Given the description of an element on the screen output the (x, y) to click on. 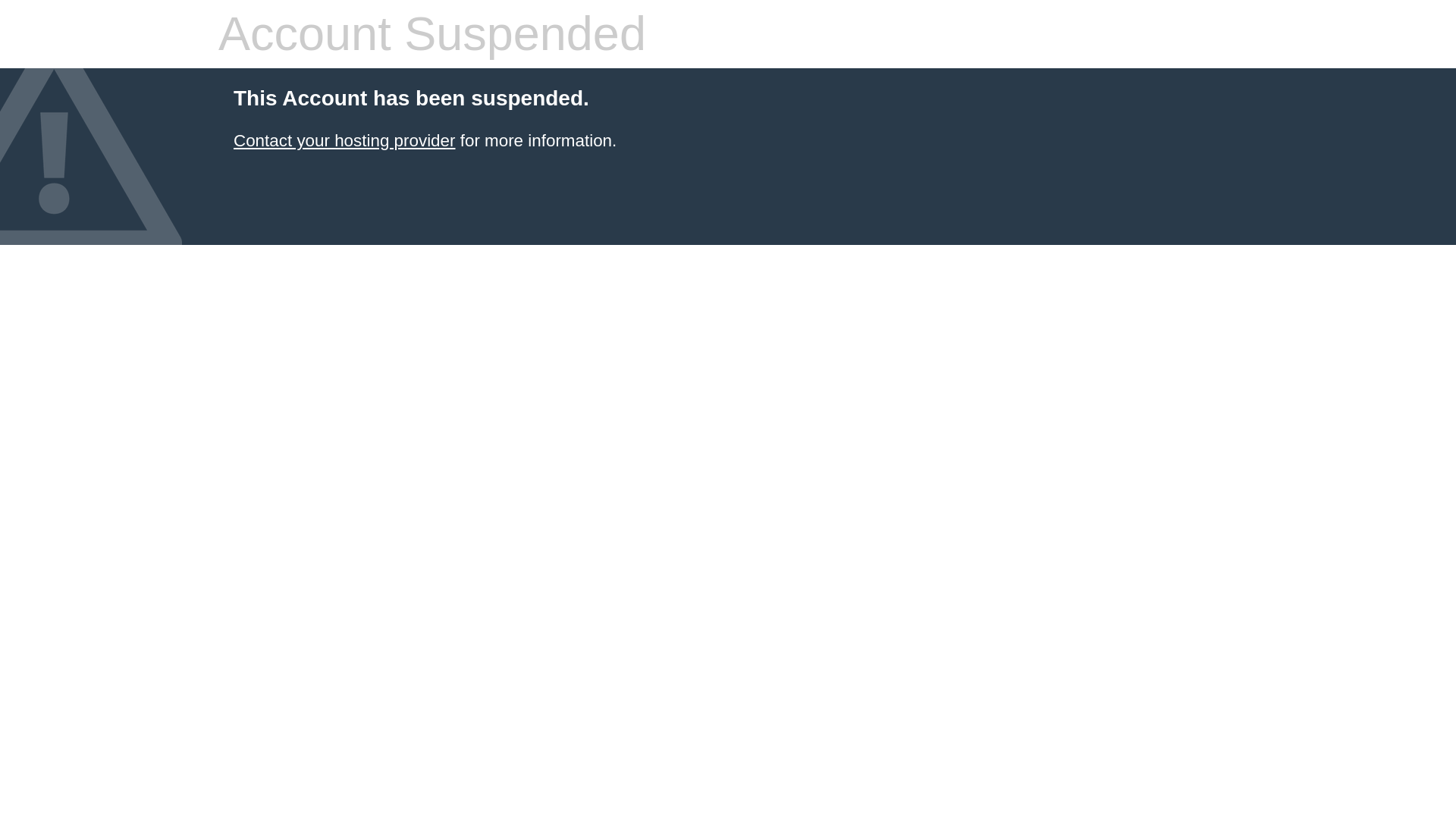
Contact your hosting provider (343, 140)
